Given the description of an element on the screen output the (x, y) to click on. 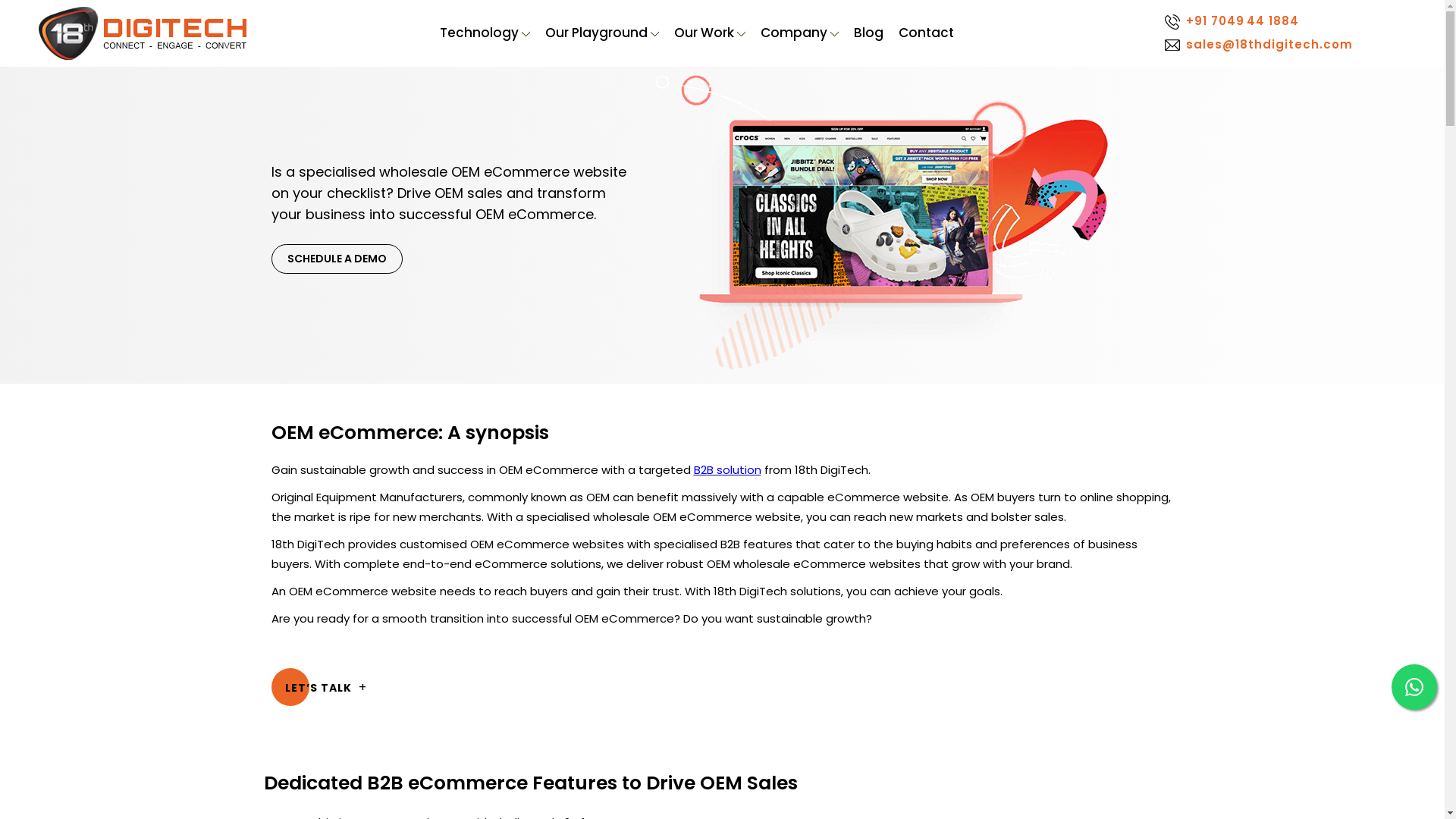
Technology Element type: text (484, 32)
Company Element type: text (799, 32)
Contact Element type: text (925, 32)
+91 7049
HI 18TH Element type: text (1256, 21)
B2B solution Element type: text (726, 469)
sales@18thdigitech.com Element type: text (1256, 44)
Our Work Element type: text (709, 32)
Blog Element type: text (868, 32)
Our Playground Element type: text (601, 32)
18th Digitech Element type: hover (141, 32)
SCHEDULE A DEMO Element type: text (336, 258)
